Given the description of an element on the screen output the (x, y) to click on. 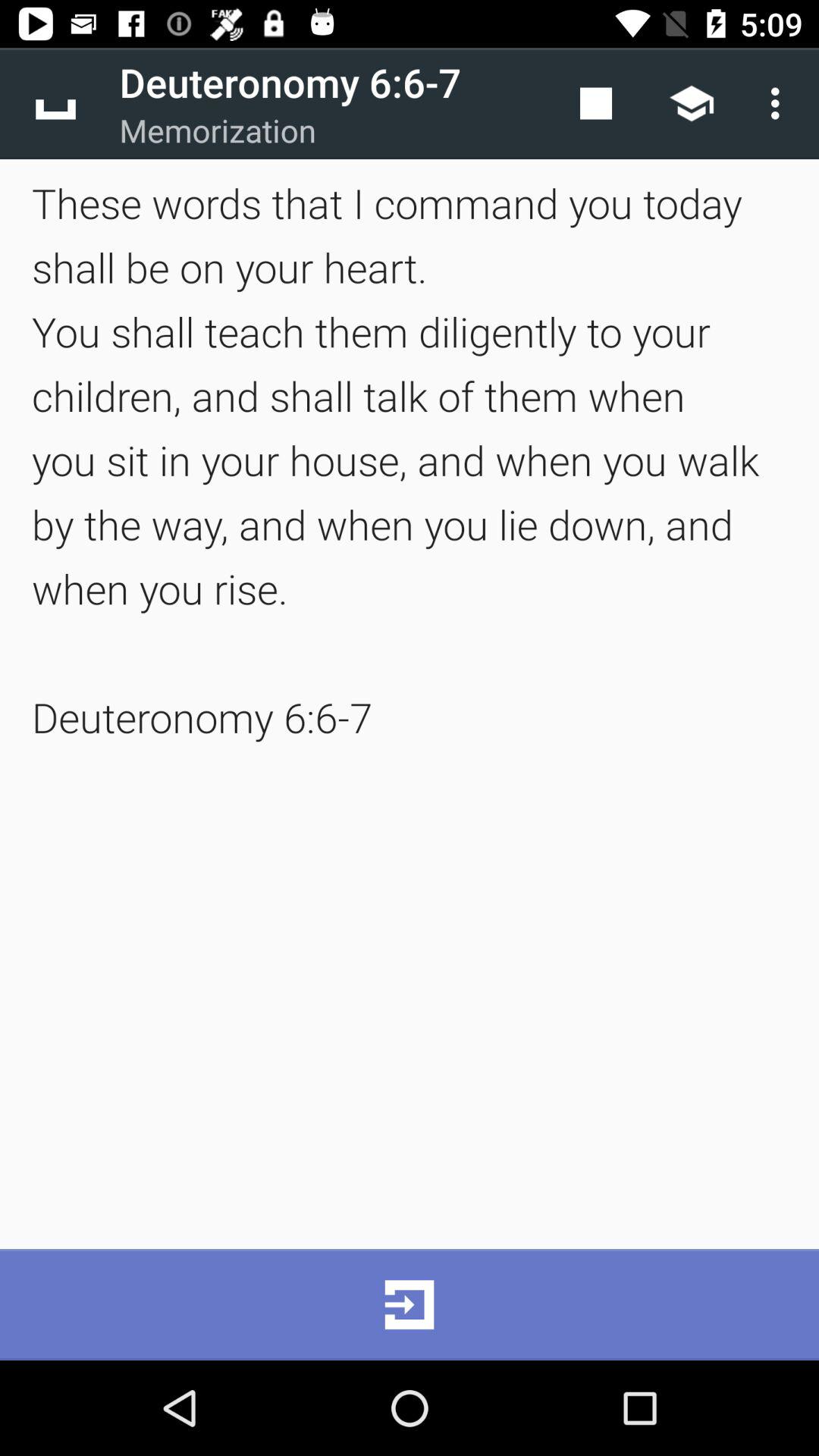
next page (409, 1304)
